Given the description of an element on the screen output the (x, y) to click on. 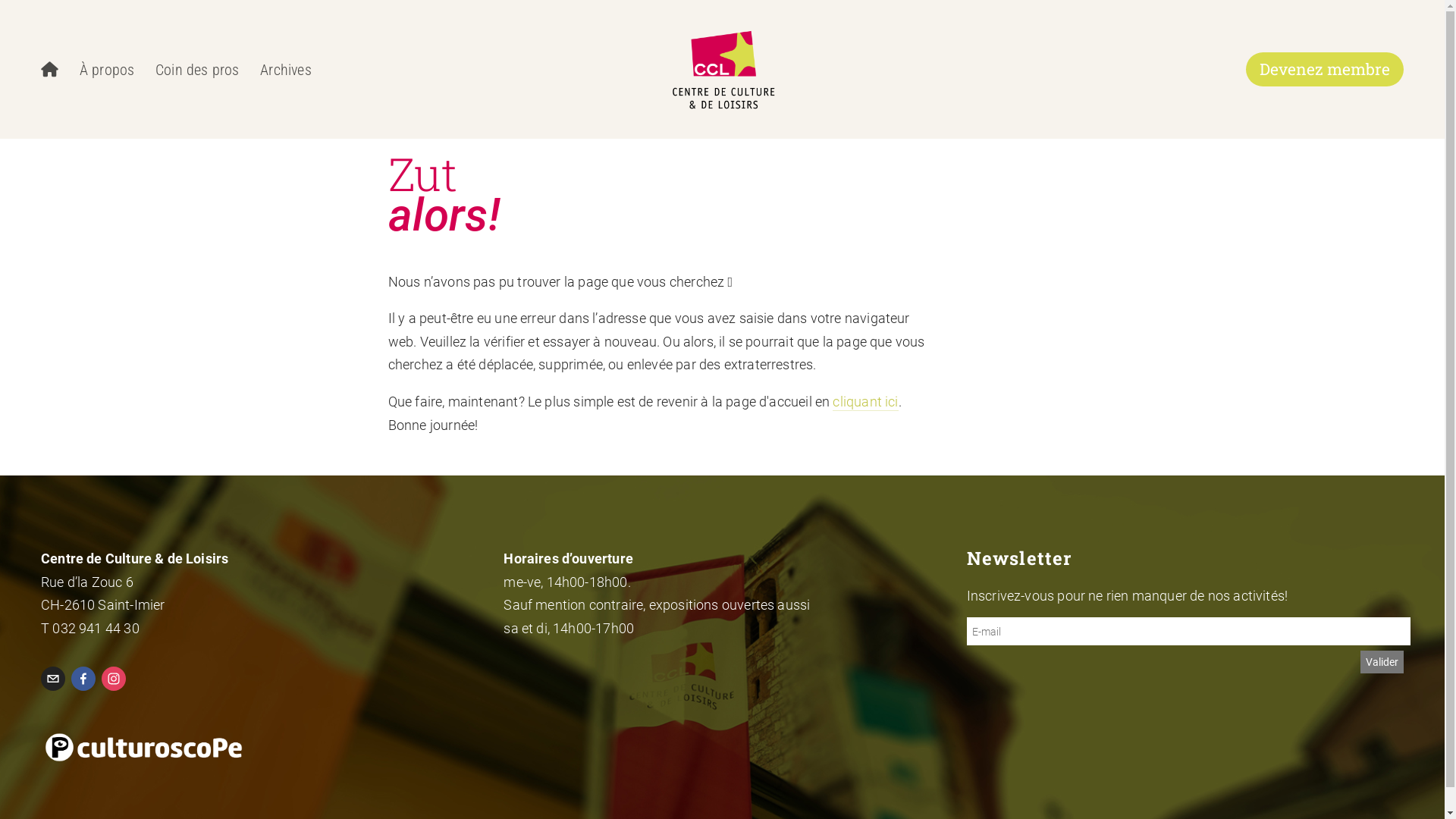
Archives Element type: text (285, 69)
Coin des pros Element type: text (197, 69)
Valider Element type: text (1381, 661)
Devenez membre Element type: text (1324, 69)
cliquant ici Element type: text (864, 402)
